Given the description of an element on the screen output the (x, y) to click on. 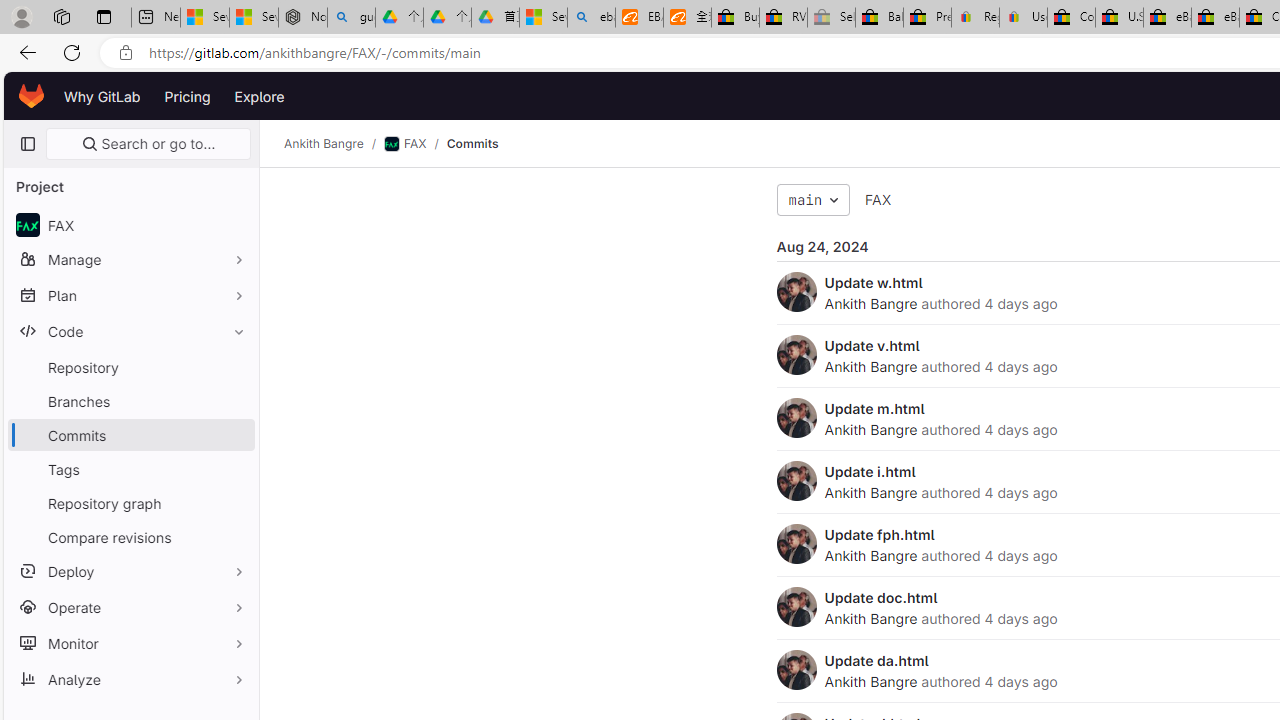
User Privacy Notice | eBay (1023, 17)
Ankith Bangre (870, 681)
Why GitLab (102, 95)
Buy Auto Parts & Accessories | eBay (735, 17)
FAX (878, 200)
FAX/ (414, 143)
Pricing (187, 95)
avatar (27, 224)
Update doc.html (881, 597)
Code (130, 331)
Analyze (130, 678)
Primary navigation sidebar (27, 143)
